Given the description of an element on the screen output the (x, y) to click on. 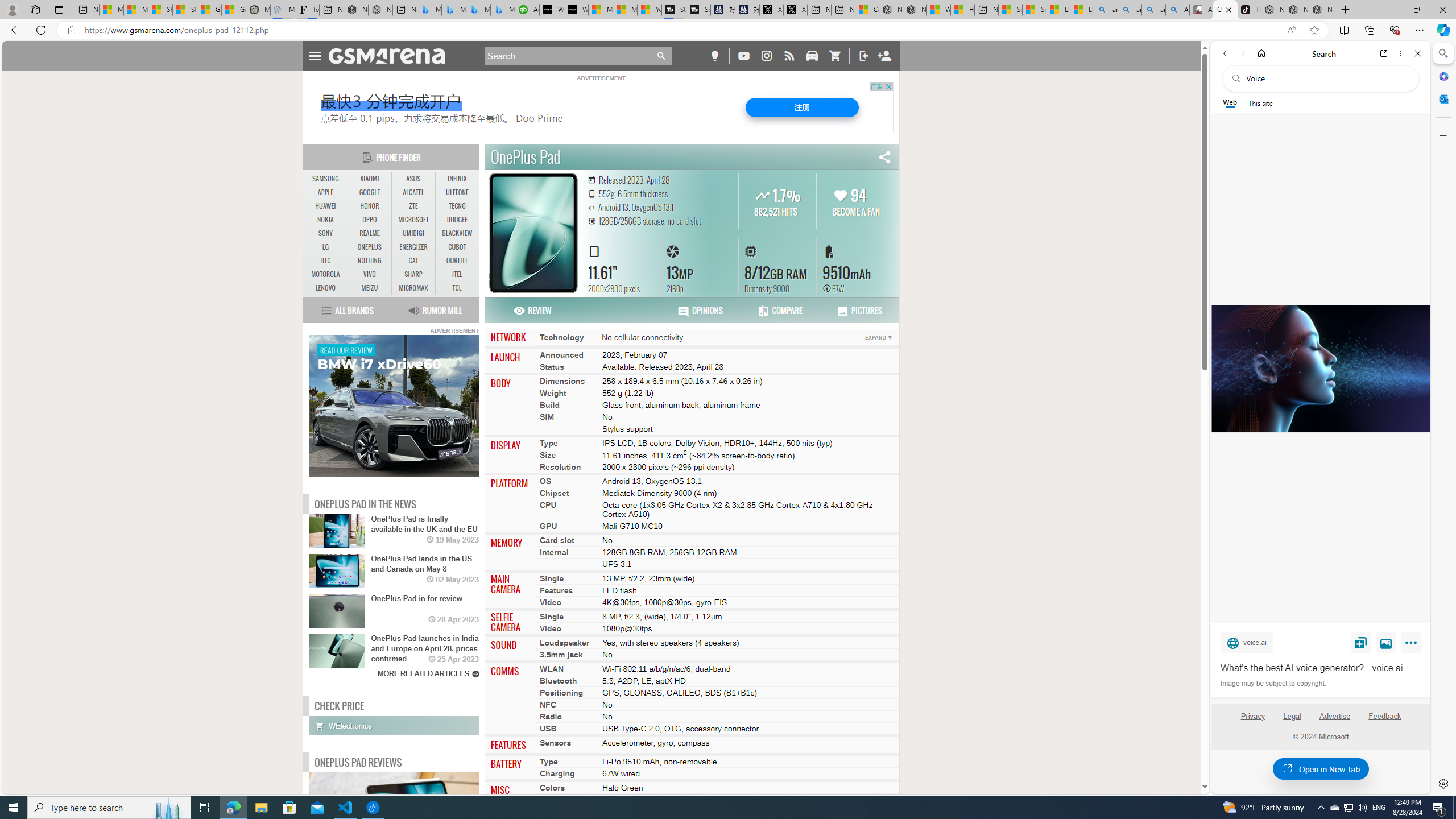
VIVO (369, 273)
Announced (561, 354)
Internal (554, 552)
Manatee Mortality Statistics | FWC (258, 9)
Open link in new tab (1383, 53)
What's the best AI voice generator? - voice.ai (1320, 667)
REALME (369, 233)
Microsoft 365 (1442, 76)
SIM (546, 416)
Sensors (556, 742)
